Given the description of an element on the screen output the (x, y) to click on. 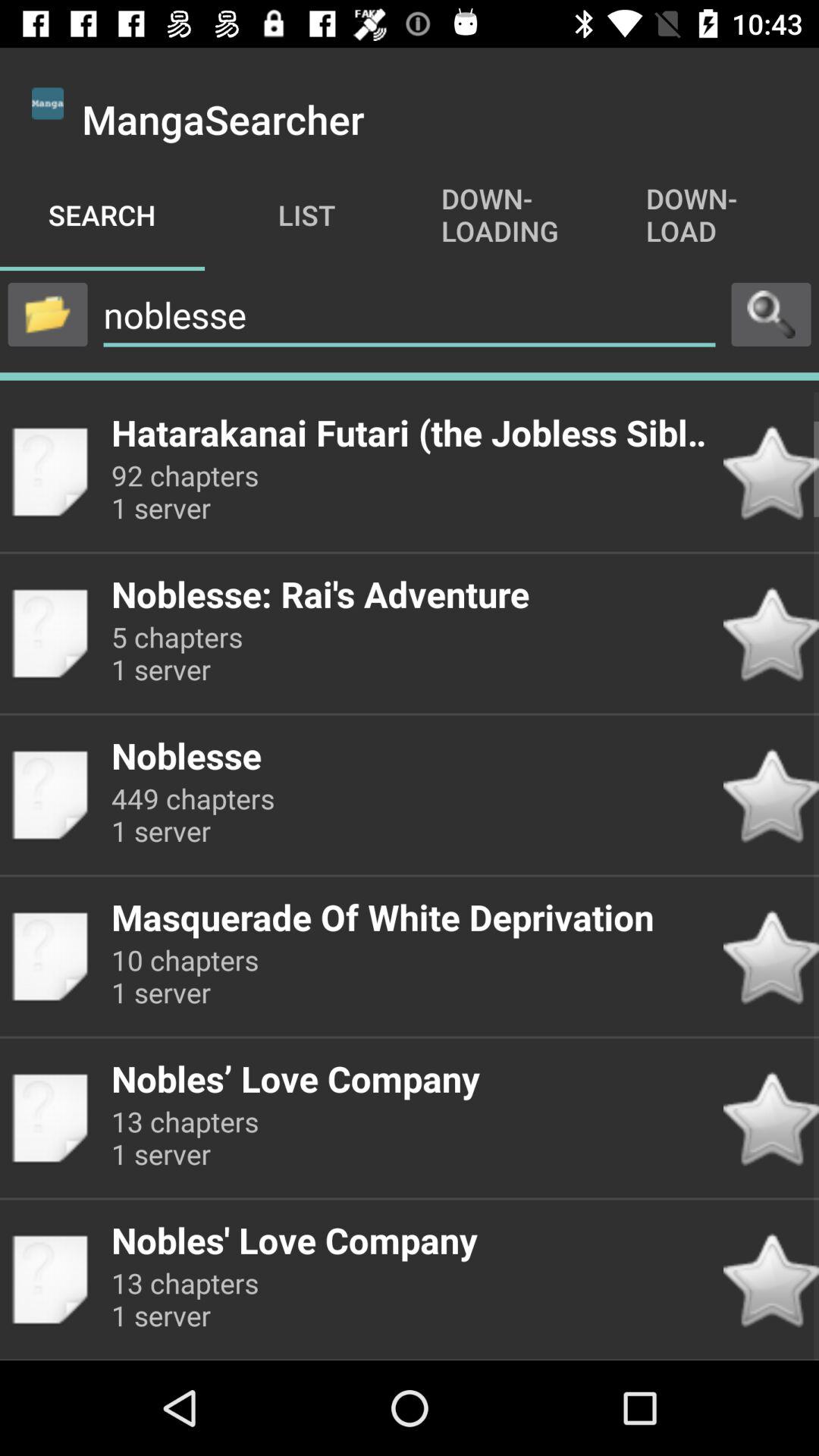
open file (47, 314)
